Given the description of an element on the screen output the (x, y) to click on. 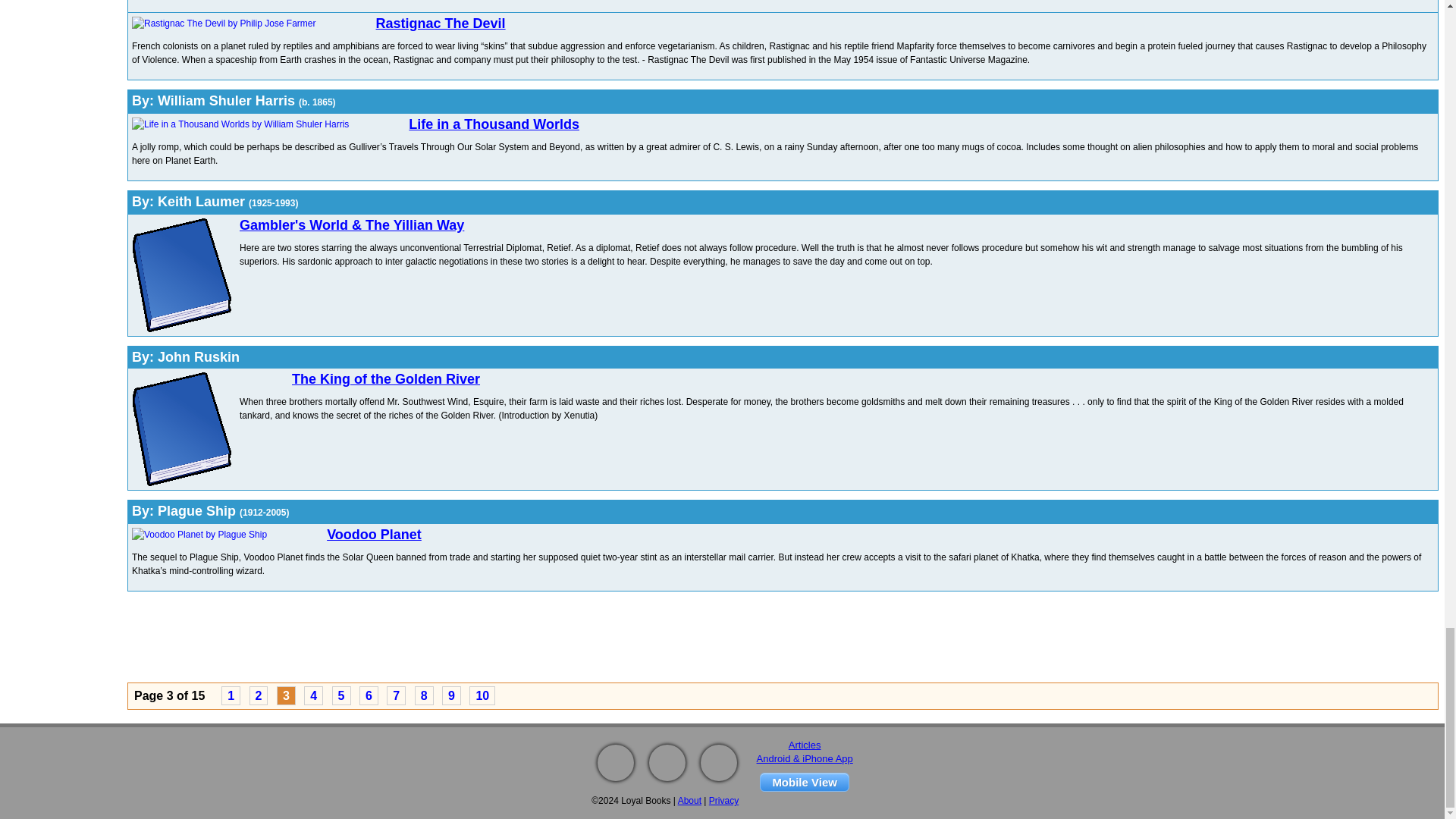
Mobile View (804, 782)
